Given the description of an element on the screen output the (x, y) to click on. 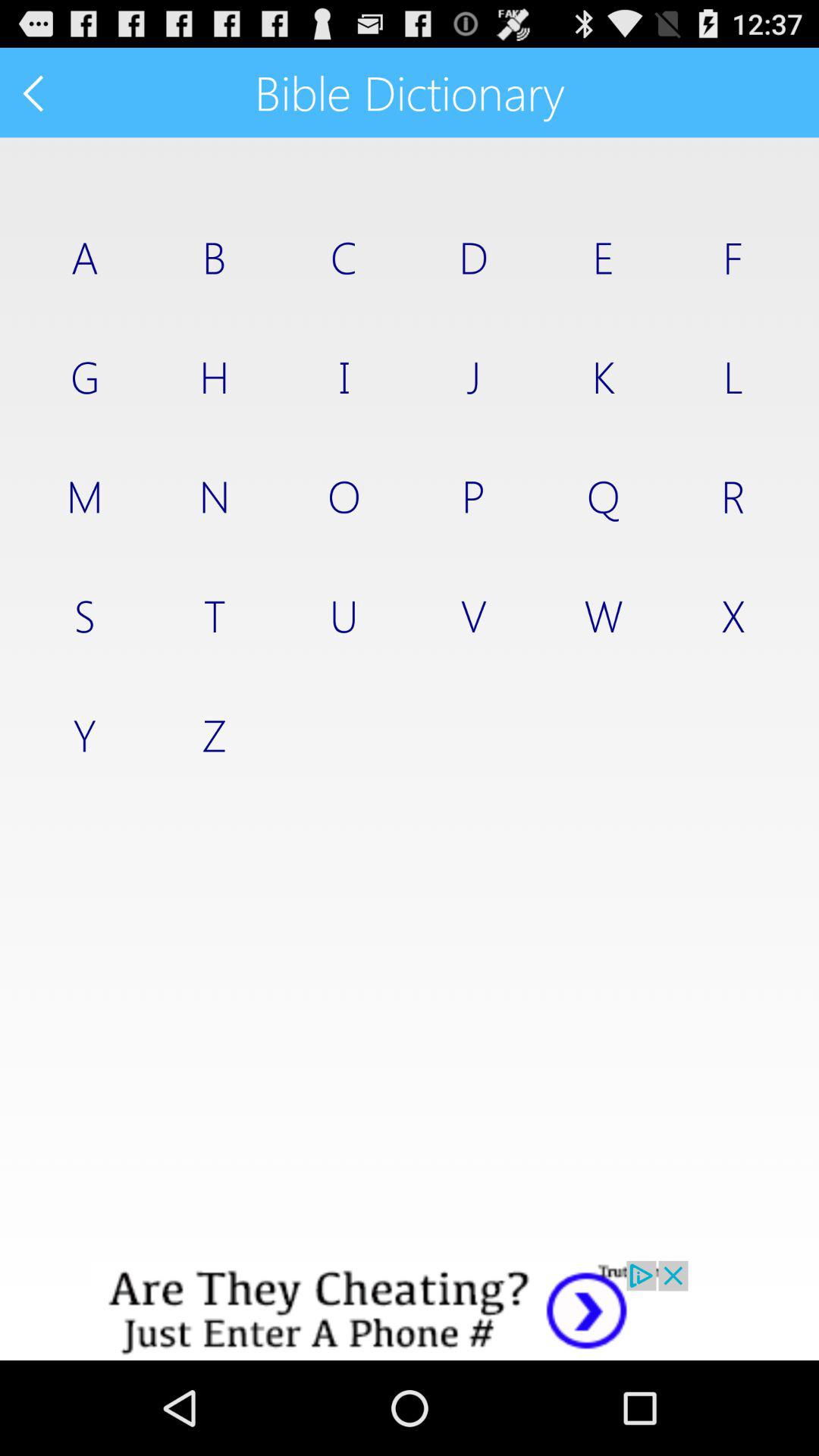
go back icon (34, 92)
